Given the description of an element on the screen output the (x, y) to click on. 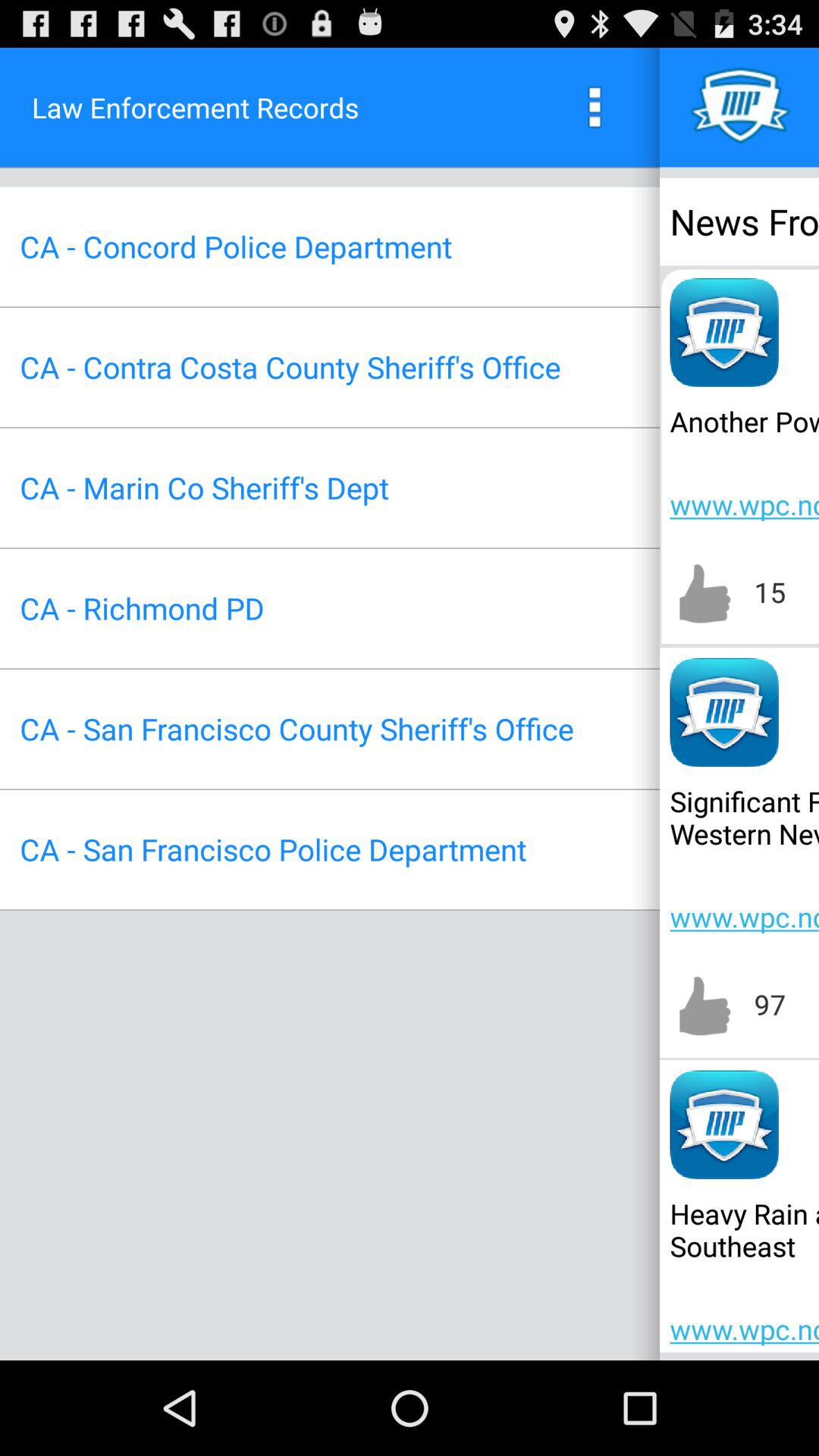
scroll until the ca marin co icon (204, 487)
